Given the description of an element on the screen output the (x, y) to click on. 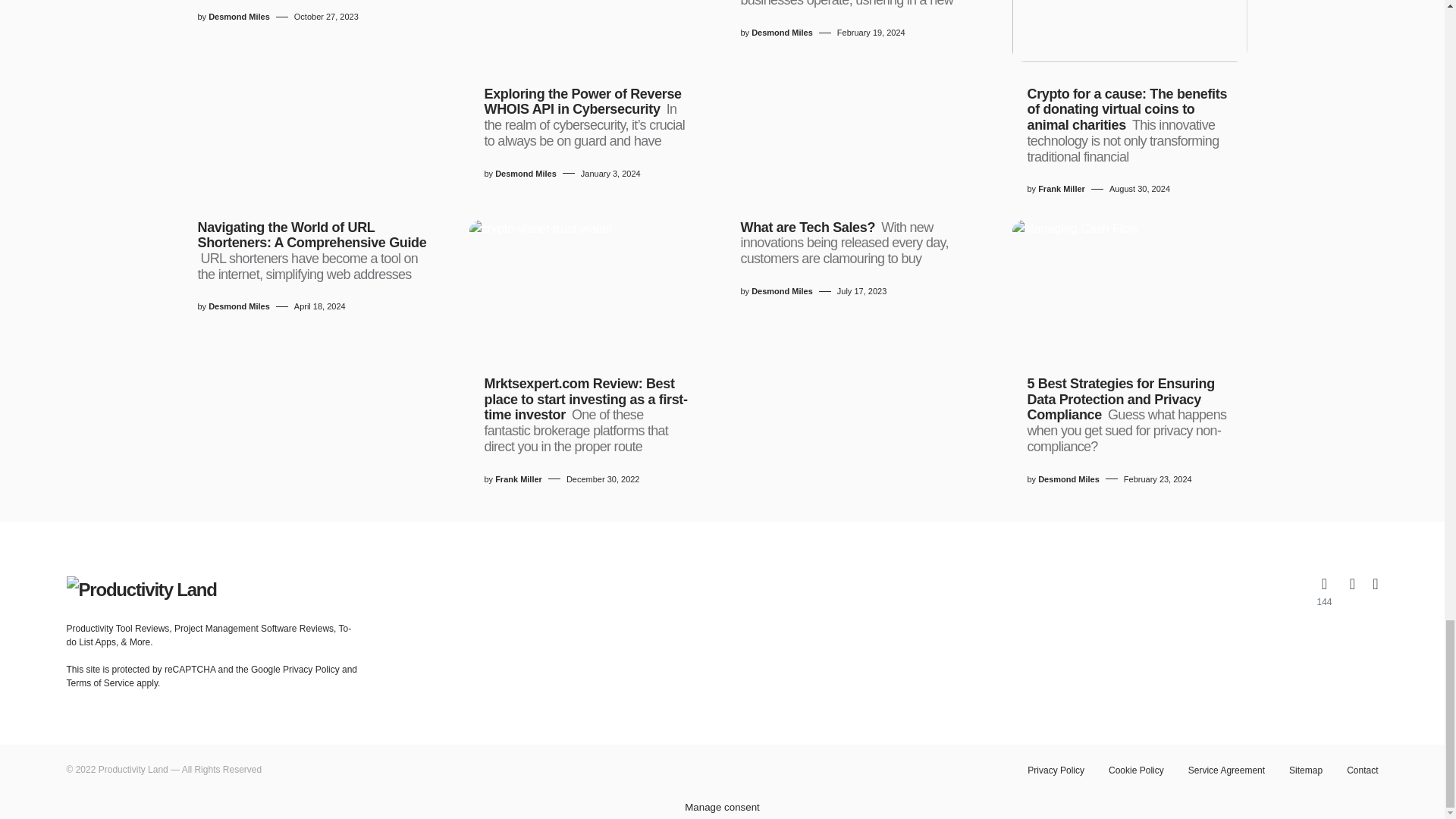
View all posts by Desmond Miles (525, 173)
View all posts by Frank Miller (1061, 188)
View all posts by Frank Miller (518, 479)
View all posts by Desmond Miles (781, 32)
View all posts by Desmond Miles (238, 306)
View all posts by Desmond Miles (781, 291)
View all posts by Desmond Miles (1068, 479)
View all posts by Desmond Miles (238, 16)
